Given the description of an element on the screen output the (x, y) to click on. 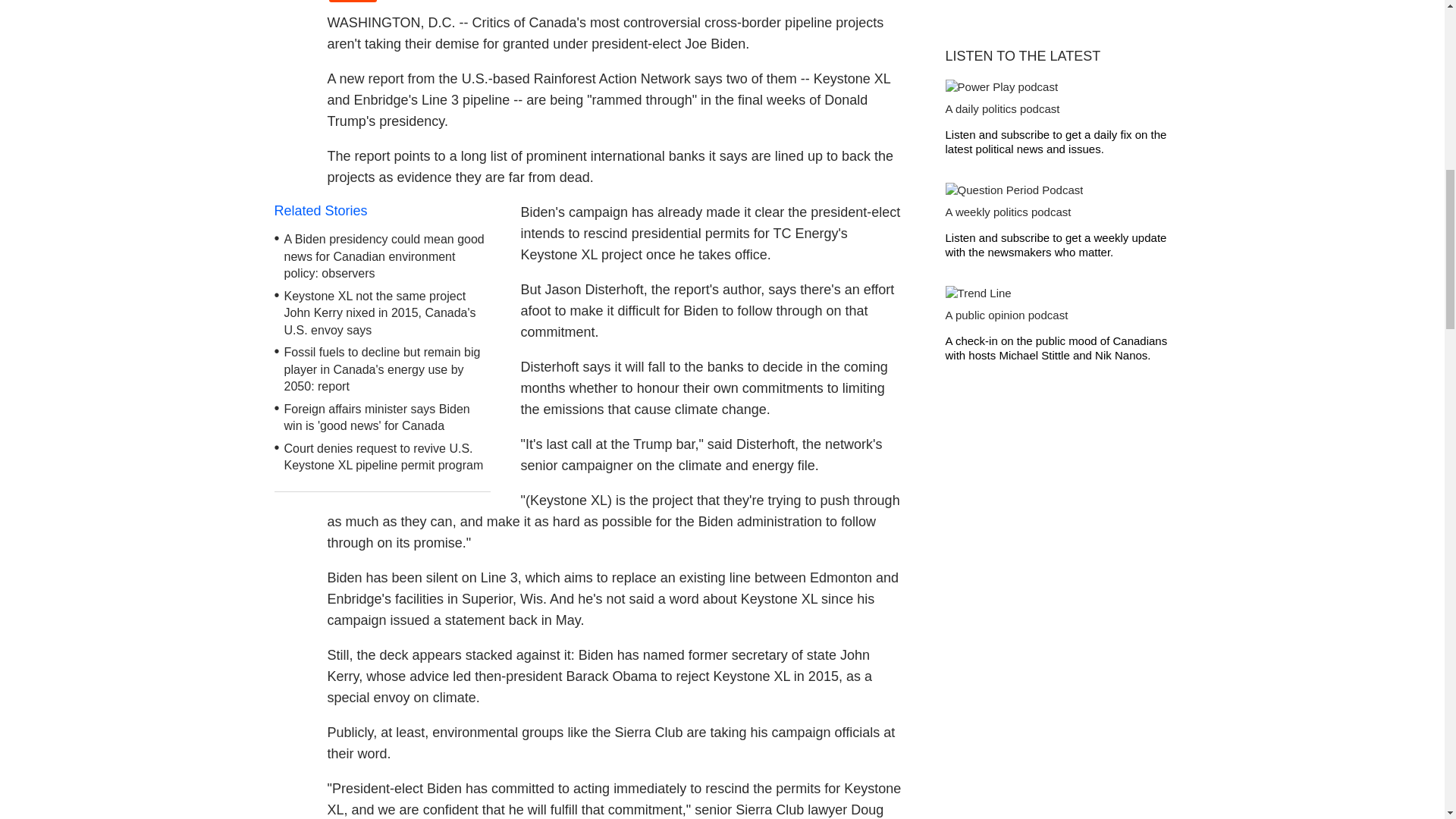
Reddit (353, 1)
